Given the description of an element on the screen output the (x, y) to click on. 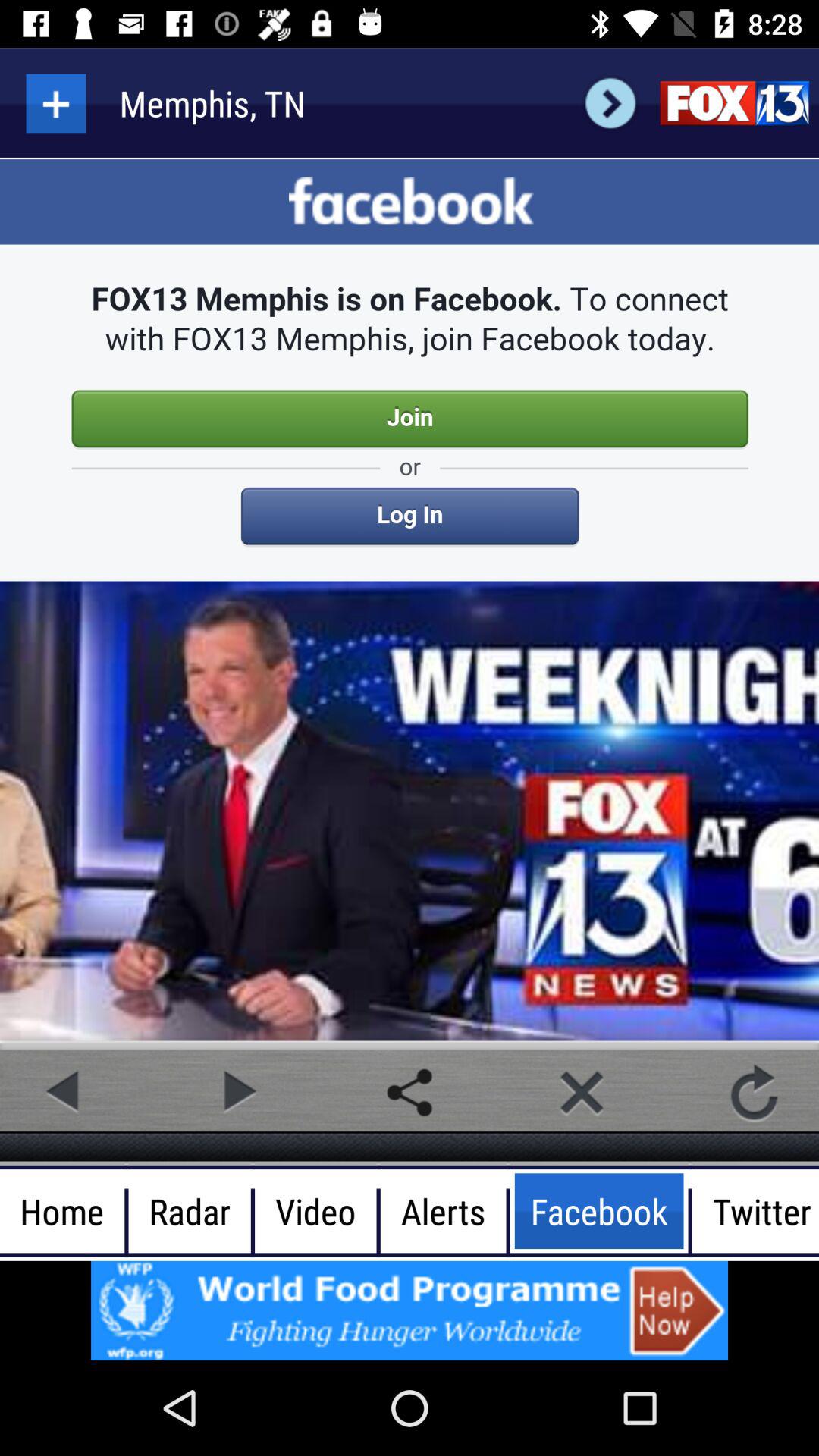
backward (237, 1092)
